Given the description of an element on the screen output the (x, y) to click on. 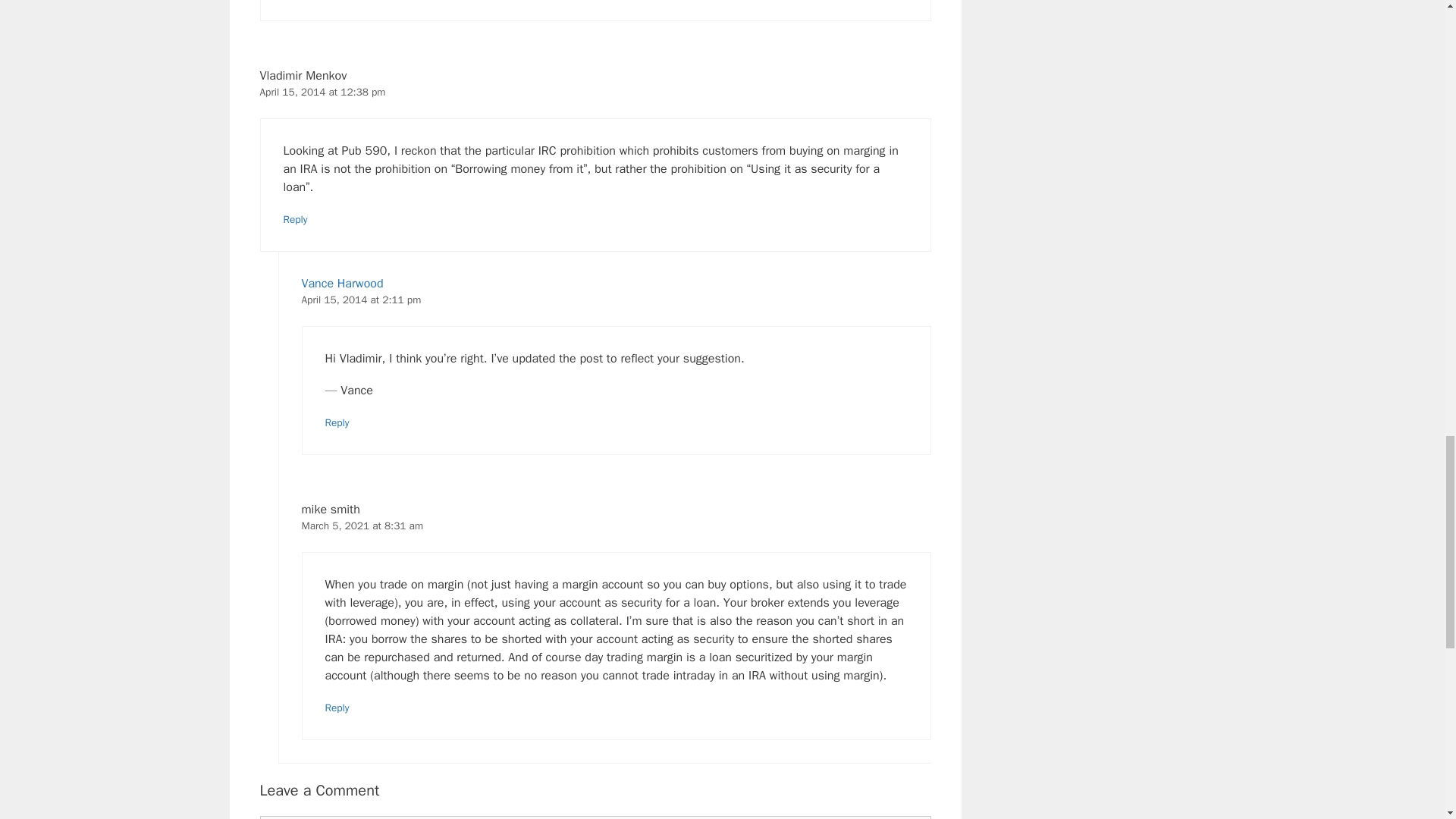
Reply (295, 219)
April 15, 2014 at 12:38 pm (322, 91)
April 15, 2014 at 2:11 pm (361, 299)
Vance Harwood (342, 283)
Reply (336, 422)
